Given the description of an element on the screen output the (x, y) to click on. 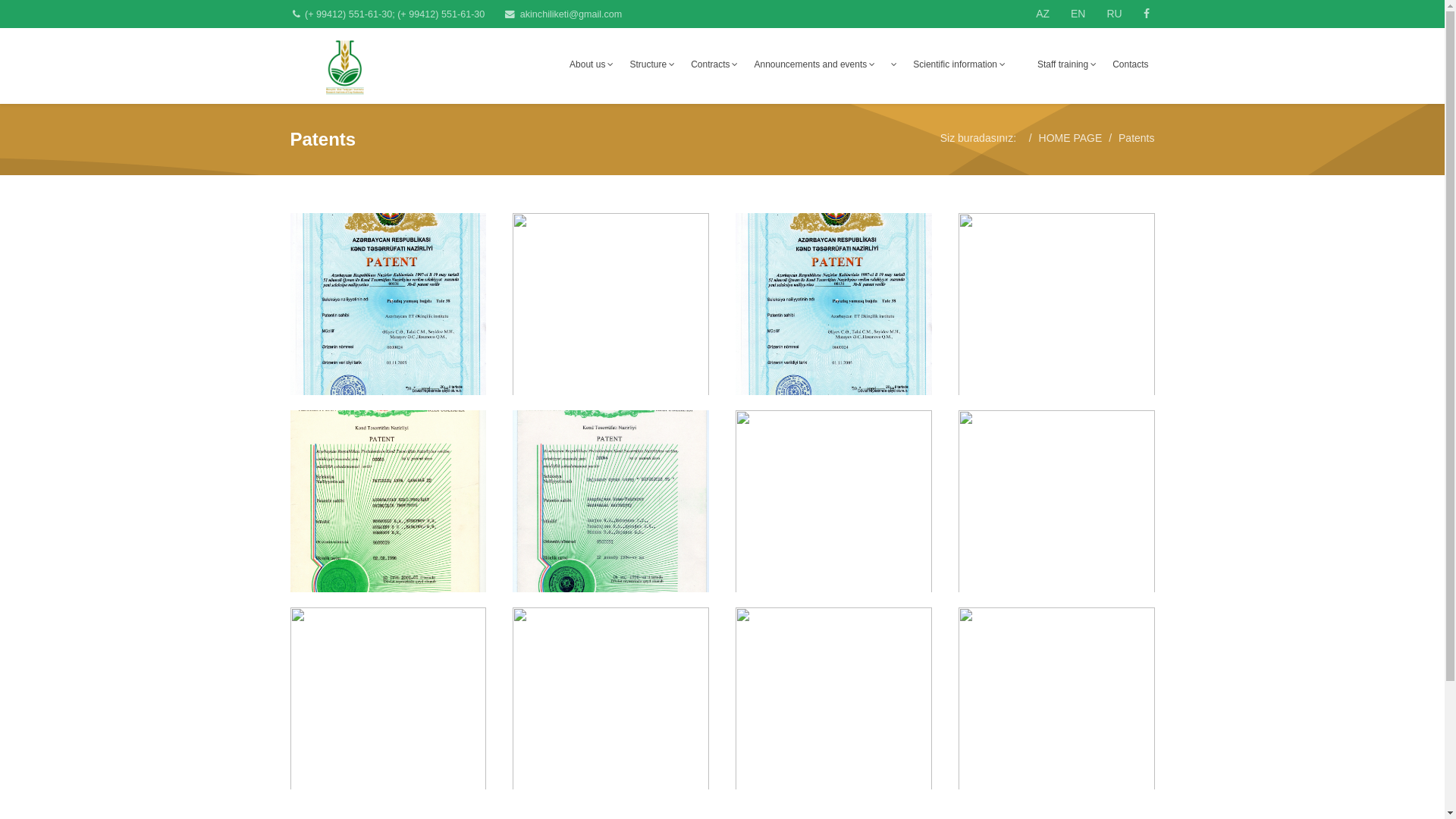
Contacts Element type: text (1130, 64)
Staff training Element type: text (1066, 64)
HOME PAGE Element type: text (1070, 137)
Patents Element type: text (1136, 137)
AZ Element type: text (1042, 13)
Contracts Element type: text (713, 64)
Announcements and events Element type: text (814, 64)
EN Element type: text (1077, 13)
Structure Element type: text (651, 64)
About us Element type: text (591, 64)
Scientific information Element type: text (958, 64)
RU Element type: text (1113, 13)
akinchiliketi@gmail.com Element type: text (571, 14)
